Given the description of an element on the screen output the (x, y) to click on. 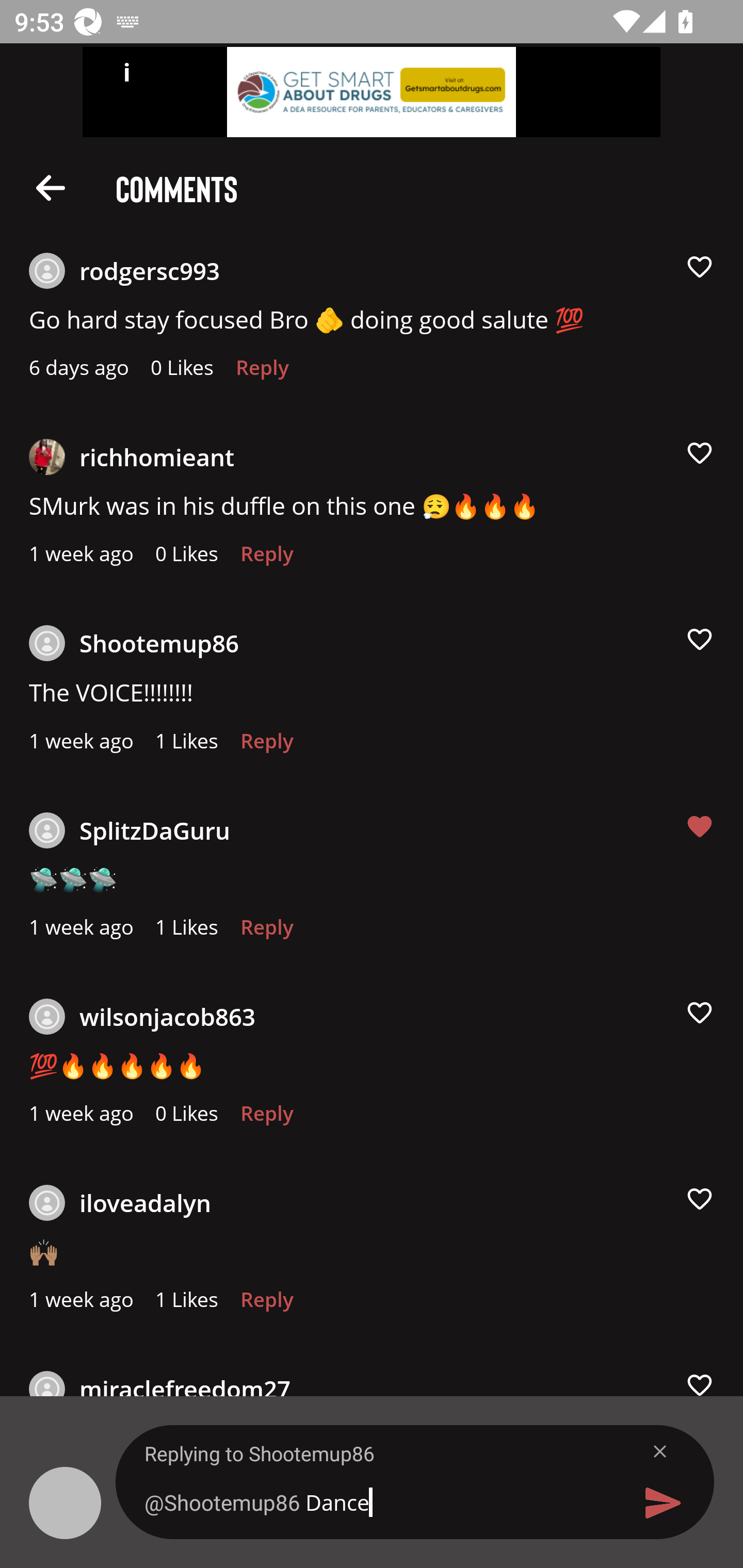
Description (50, 187)
Reply (261, 372)
Reply (266, 558)
Reply (266, 746)
Reply (266, 932)
Reply (266, 1117)
Reply (266, 1304)
Dance (378, 1502)
